Given the description of an element on the screen output the (x, y) to click on. 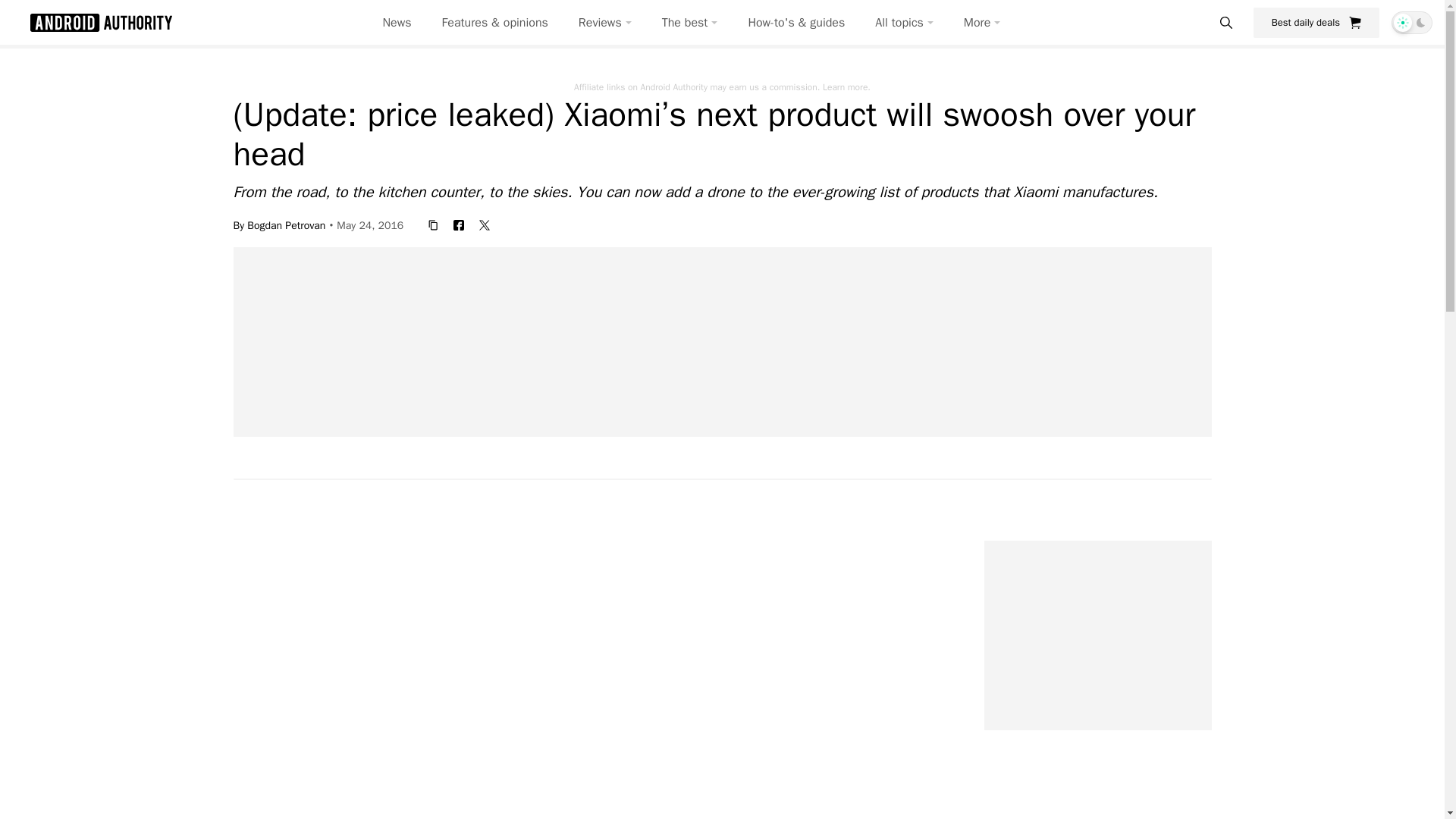
twitter (484, 225)
Reviews (604, 22)
Best daily deals (1315, 22)
The best (689, 22)
Bogdan Petrovan (285, 224)
facebook (458, 225)
Learn more. (846, 86)
All topics (904, 22)
